Given the description of an element on the screen output the (x, y) to click on. 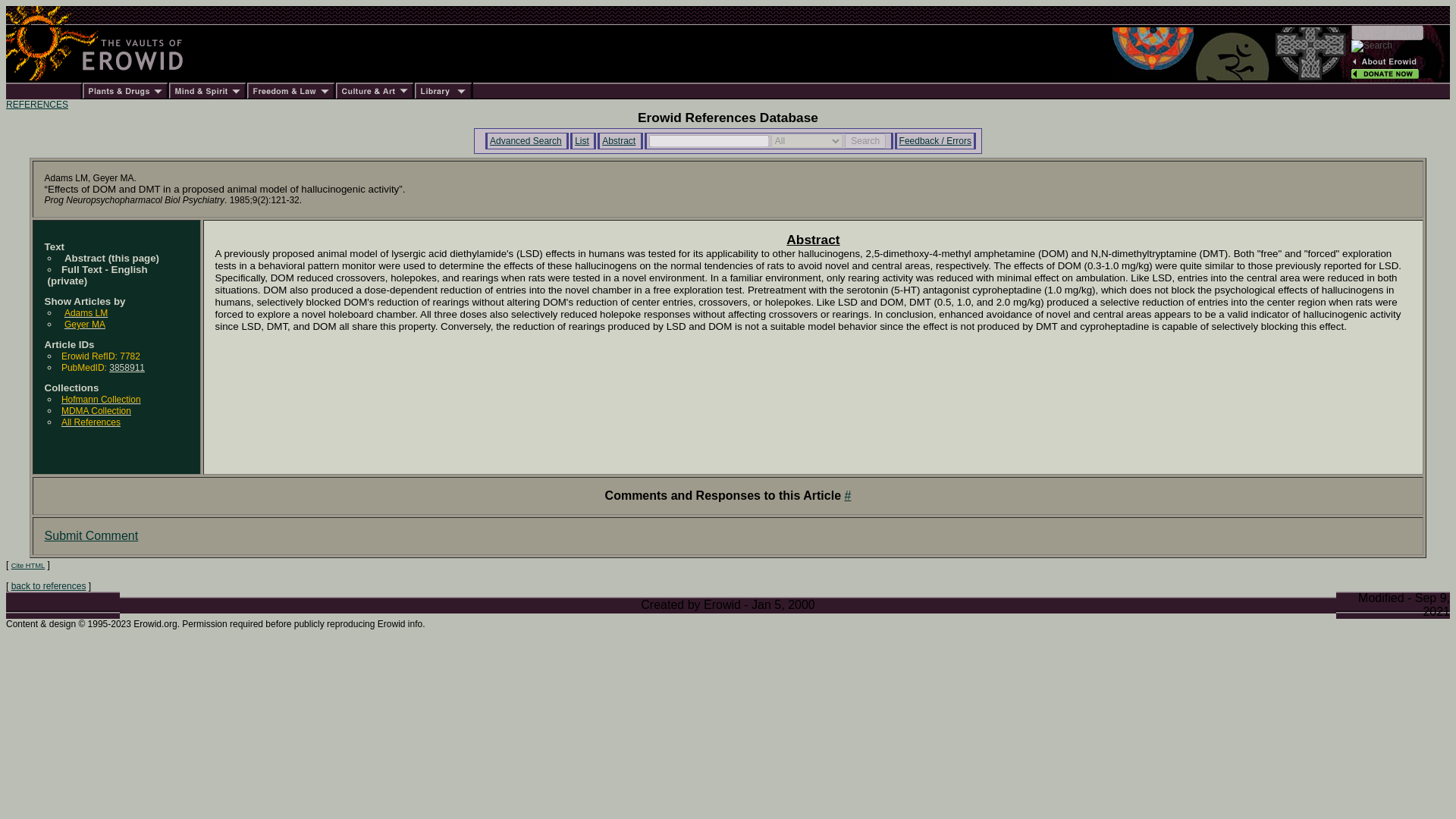
Geyer MA (84, 324)
Submit Comment (91, 535)
Cite HTML (28, 565)
All References (90, 421)
Abstract (618, 140)
List (582, 140)
Search (864, 140)
3858911 (126, 367)
REFERENCES (36, 104)
back to references (48, 585)
MDMA Collection (96, 410)
Search (864, 140)
Advanced Search (525, 140)
Search (864, 140)
Adams LM (85, 312)
